Given the description of an element on the screen output the (x, y) to click on. 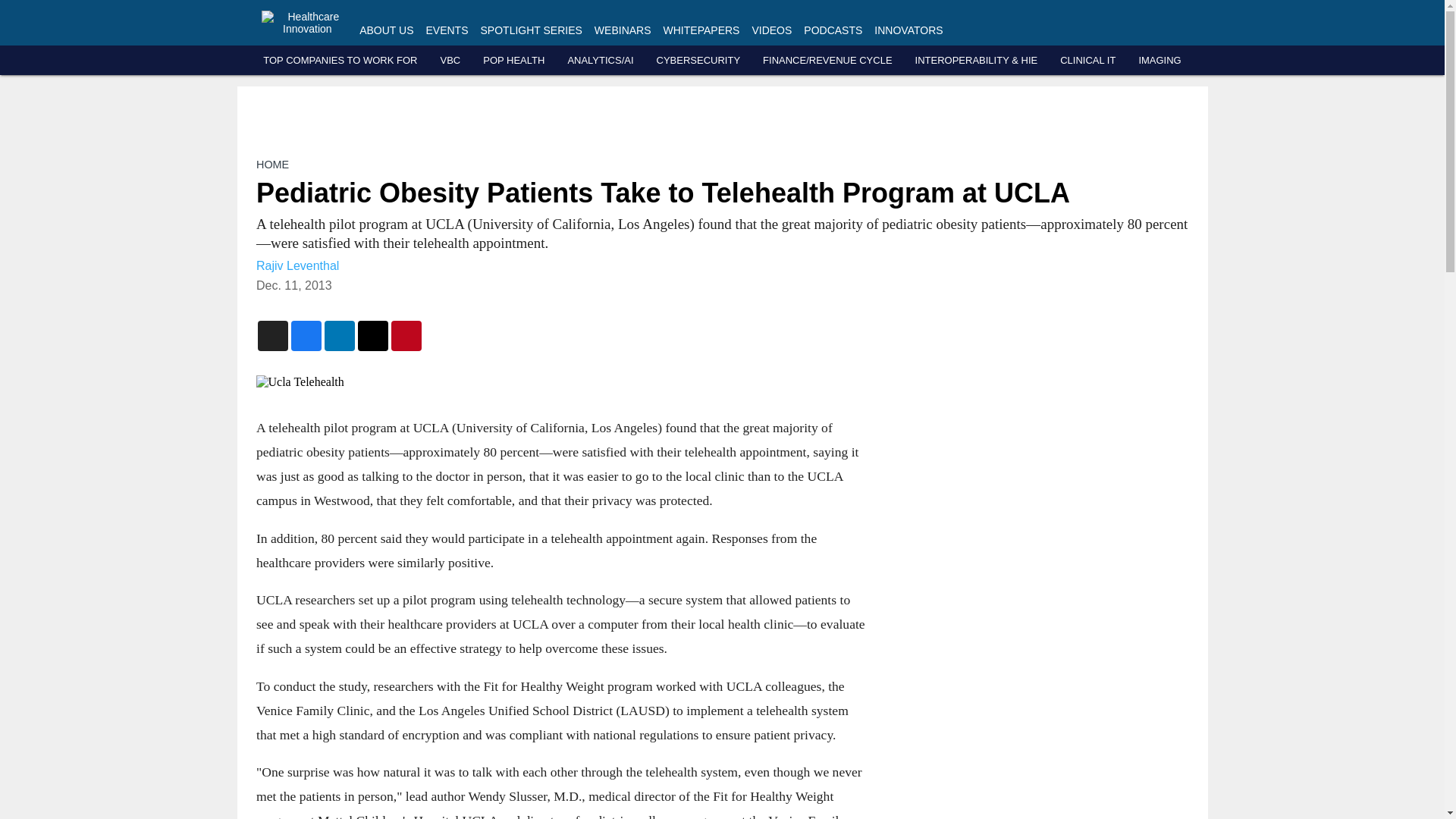
VIDEOS (771, 30)
ABOUT US (386, 30)
Rajiv Leventhal (297, 265)
PODCASTS (832, 30)
INNOVATORS (908, 30)
SPOTLIGHT SERIES (531, 30)
TOP COMPANIES TO WORK FOR (339, 60)
Ucla Telehealth (560, 382)
WHITEPAPERS (701, 30)
WEBINARS (622, 30)
CLINICAL IT (1087, 60)
EVENTS (447, 30)
HOME (272, 164)
VBC (449, 60)
POP HEALTH (513, 60)
